Given the description of an element on the screen output the (x, y) to click on. 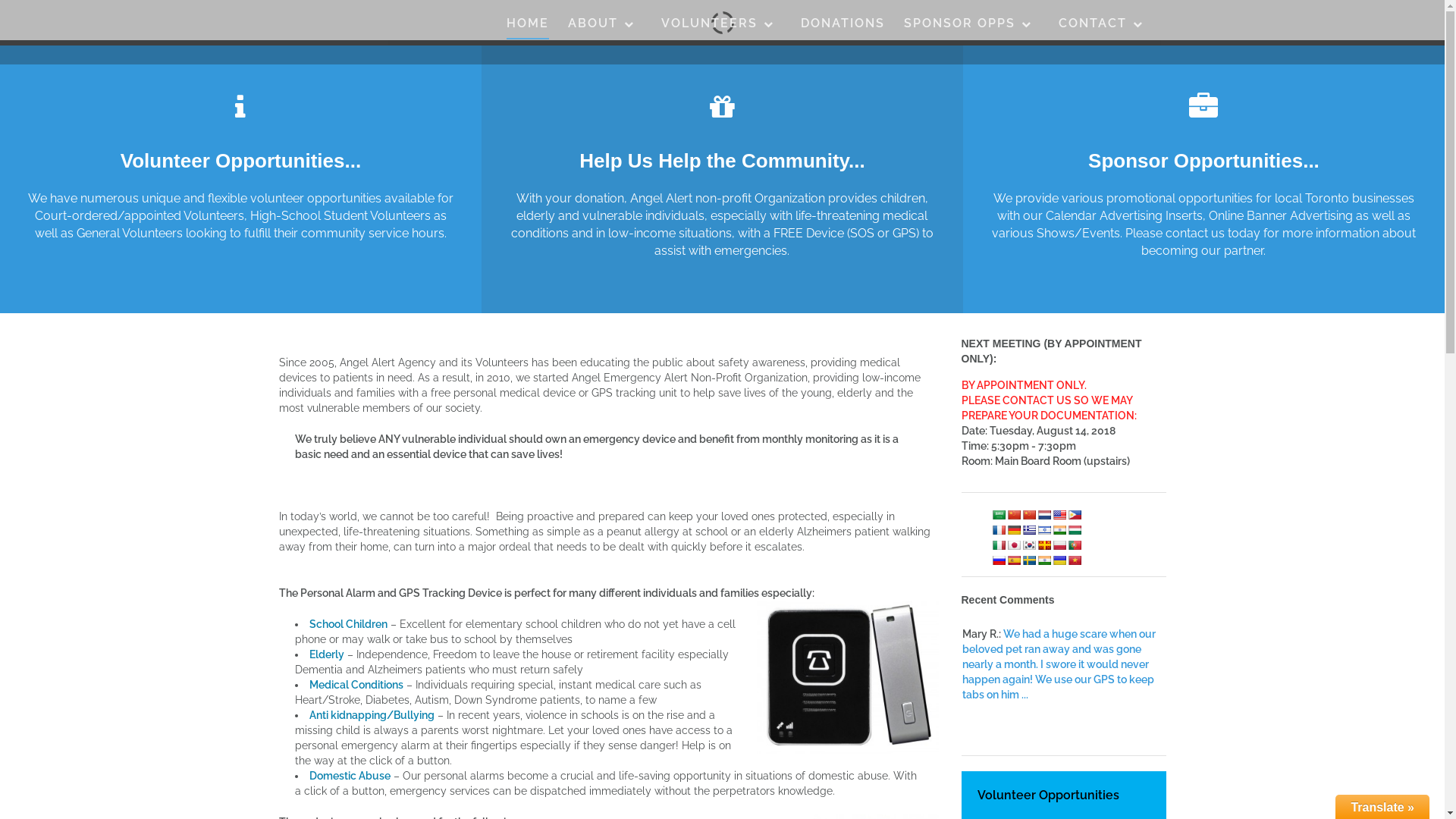
French Element type: hover (998, 529)
Chinese Element type: hover (1013, 513)
Vietnamese Element type: hover (1074, 559)
Filipino Element type: hover (1074, 513)
VOLUNTEERS Element type: text (721, 26)
Spanish Element type: hover (1013, 559)
Polish Element type: hover (1059, 544)
CONTACT Element type: text (1104, 26)
ABOUT Element type: text (604, 26)
Korean Element type: hover (1028, 544)
Tamil Element type: hover (1044, 559)
Japanese Element type: hover (1013, 544)
Chinese(Traditional) Element type: hover (1028, 513)
Greek Element type: hover (1028, 529)
Hindi Element type: hover (1059, 529)
Portuguese Element type: hover (1074, 544)
Swedish Element type: hover (1028, 559)
SPONSOR OPPS Element type: text (971, 26)
English Element type: hover (1059, 513)
Ukranian Element type: hover (1059, 559)
DONATIONS Element type: text (842, 26)
Dutch Element type: hover (1044, 513)
Hungarian Element type: hover (1074, 529)
German Element type: hover (1013, 529)
Latin Element type: hover (1044, 544)
Russian Element type: hover (998, 559)
Italian Element type: hover (998, 544)
Arabic Element type: hover (998, 513)
HOME Element type: text (527, 27)
Skip to content Element type: text (0, 0)
Hebrew Element type: hover (1044, 529)
